Given the description of an element on the screen output the (x, y) to click on. 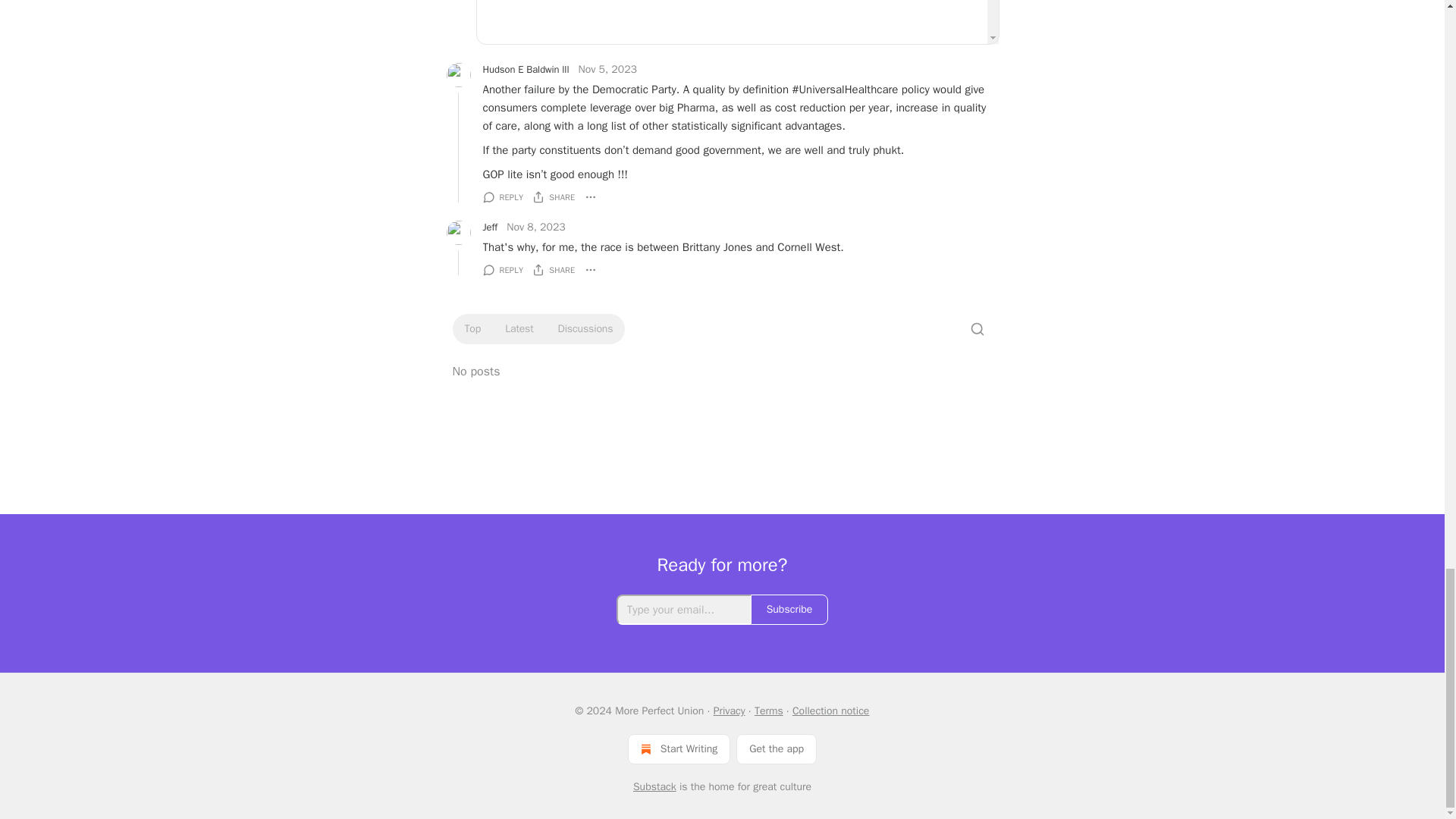
Nov 5, 2023 (607, 69)
Hudson E Baldwin lll (525, 69)
REPLY (501, 196)
